Given the description of an element on the screen output the (x, y) to click on. 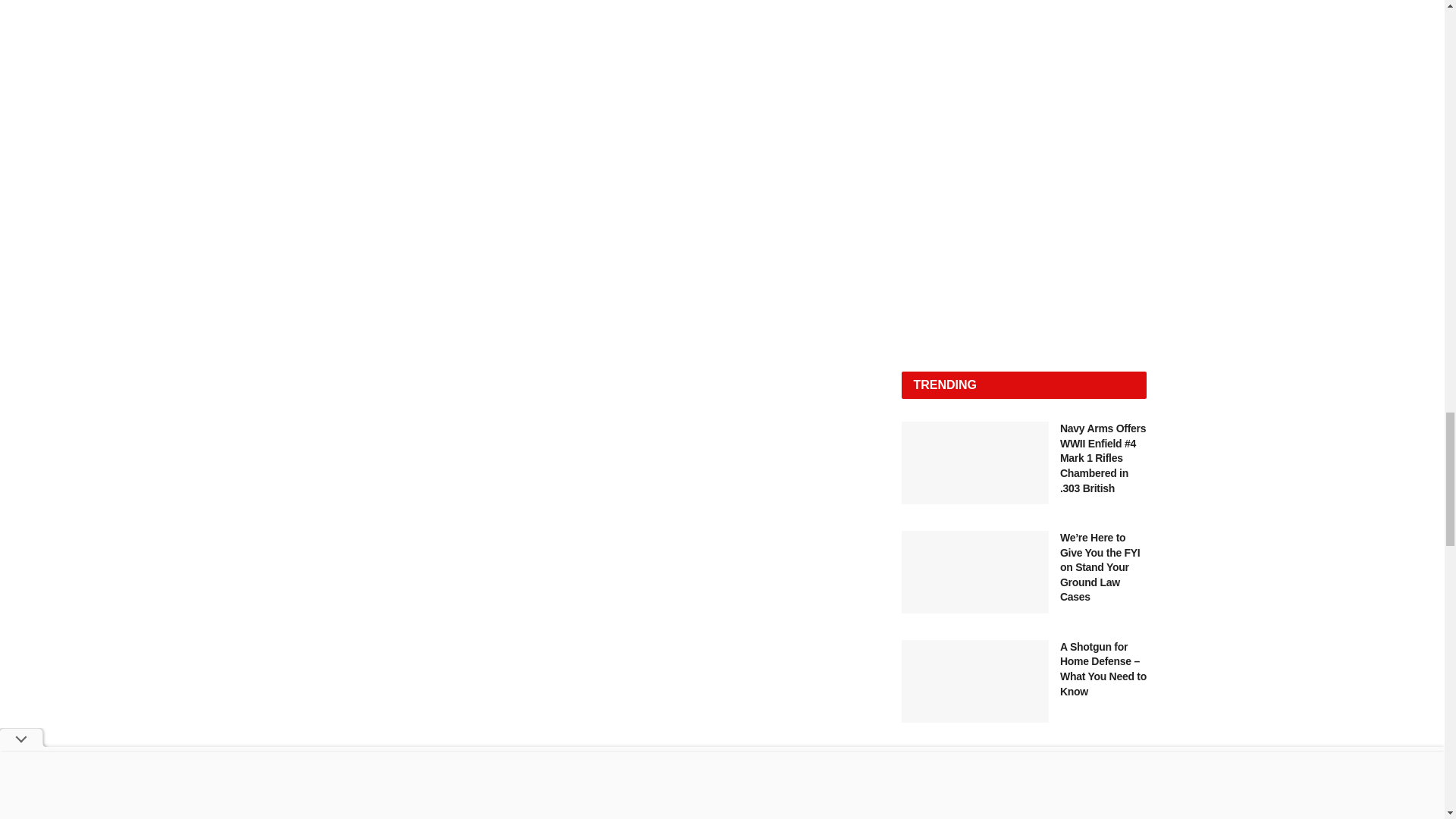
3rd party ad content (1024, 170)
